Given the description of an element on the screen output the (x, y) to click on. 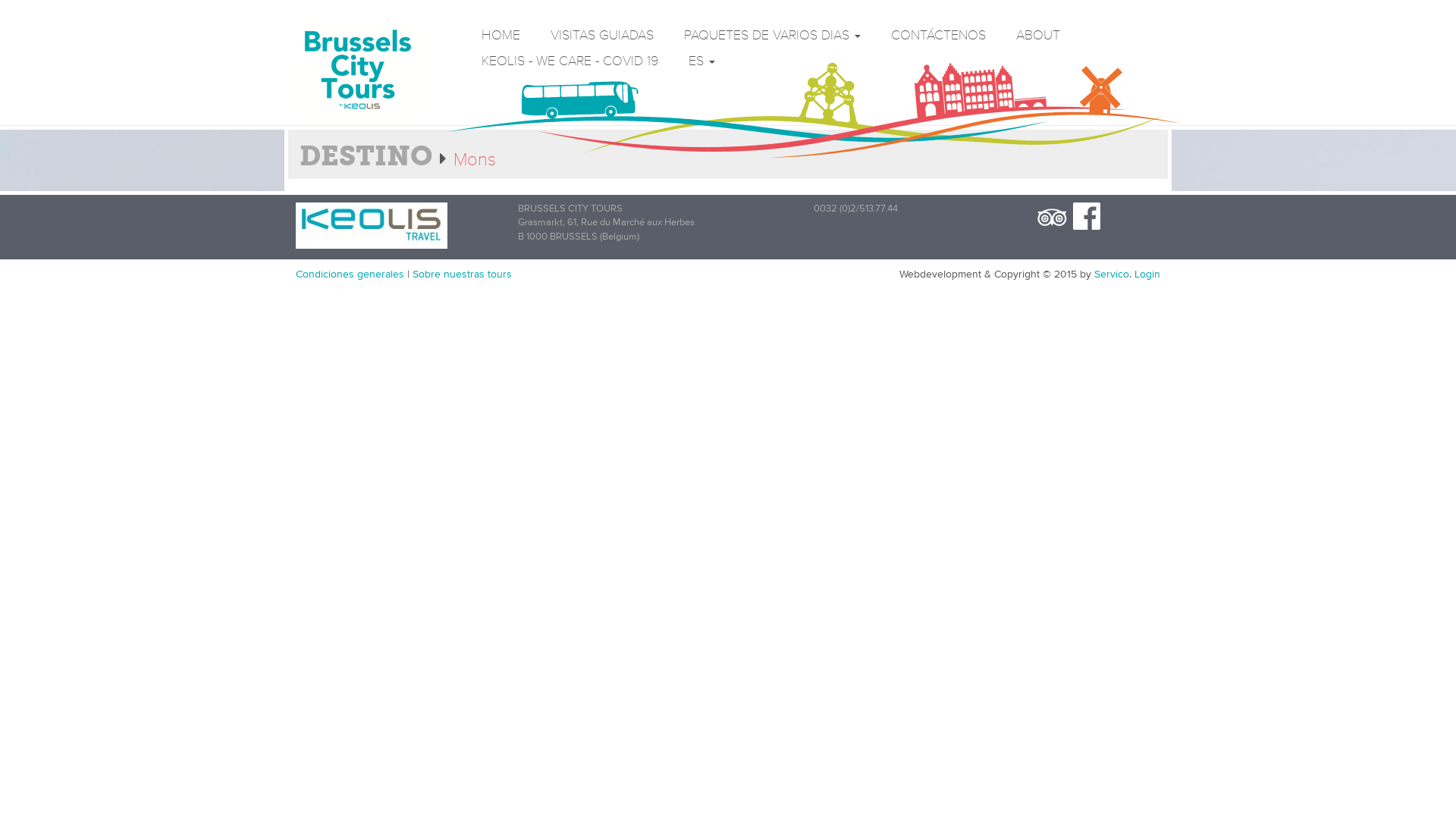
Login Element type: text (1147, 274)
Servico Element type: text (1111, 274)
VISITAS GUIADAS Element type: text (601, 35)
KEOLIS - WE CARE - COVID 19 Element type: text (569, 61)
PAQUETES DE VARIOS DIAS Element type: text (772, 35)
HOME Element type: text (500, 35)
ABOUT Element type: text (1037, 35)
Condiciones generales Element type: text (349, 274)
ES Element type: text (701, 61)
Sobre nuestras tours Element type: text (461, 274)
